Given the description of an element on the screen output the (x, y) to click on. 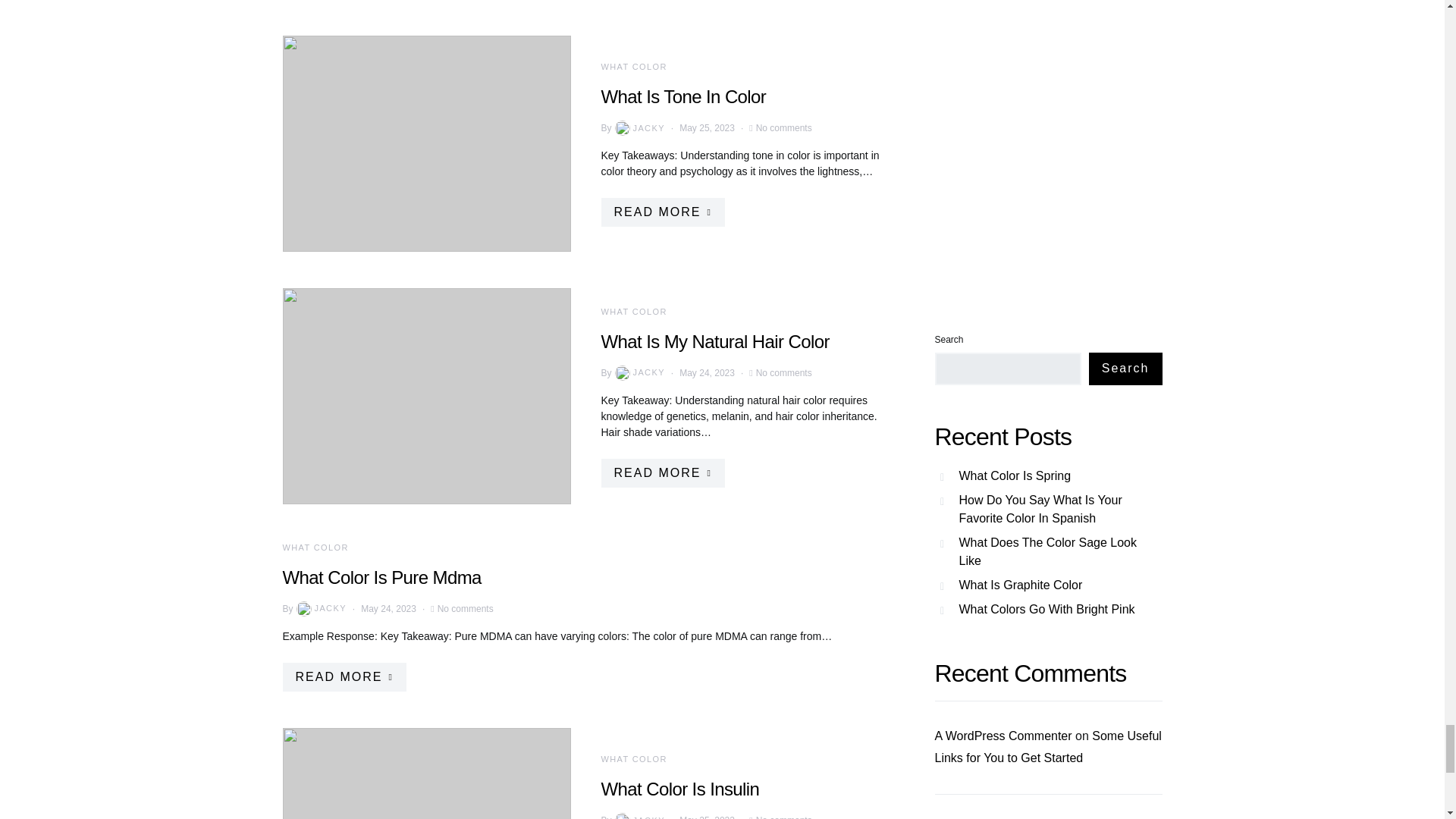
No comments (783, 128)
WHAT COLOR (632, 66)
JACKY (638, 127)
View all posts by Jacky (320, 607)
No comments (783, 372)
READ MORE (661, 212)
What Is My Natural Hair Color (713, 340)
View all posts by Jacky (638, 816)
View all posts by Jacky (638, 127)
JACKY (638, 372)
What Is Tone In Color (682, 96)
View all posts by Jacky (638, 372)
WHAT COLOR (632, 310)
